Given the description of an element on the screen output the (x, y) to click on. 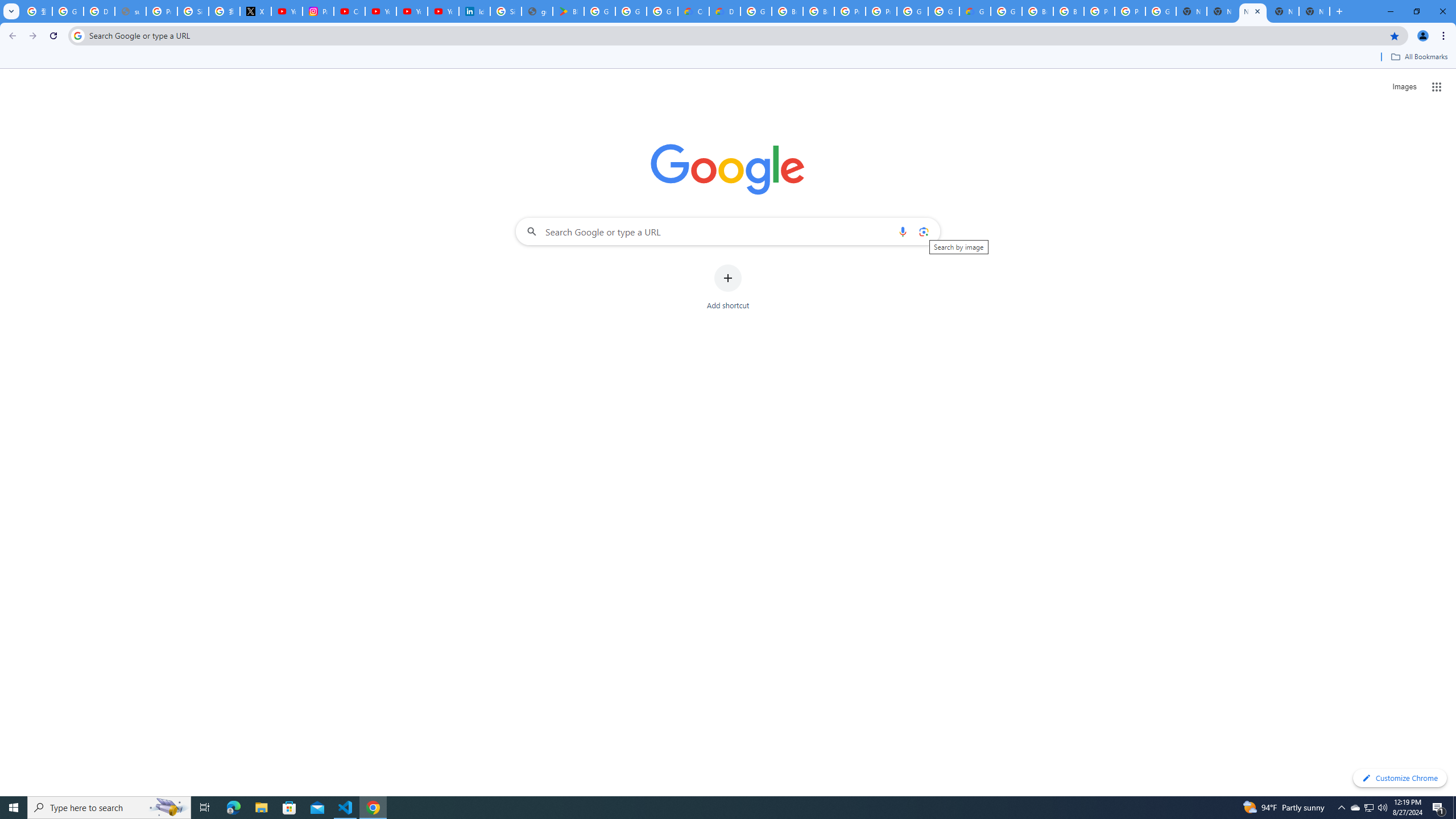
Sign in - Google Accounts (192, 11)
New Tab (1252, 11)
support.google.com - Network error (130, 11)
Privacy Help Center - Policies Help (161, 11)
YouTube Culture & Trends - YouTube Top 10, 2021 (411, 11)
New Tab (1314, 11)
Google Cloud Platform (1005, 11)
X (255, 11)
